Given the description of an element on the screen output the (x, y) to click on. 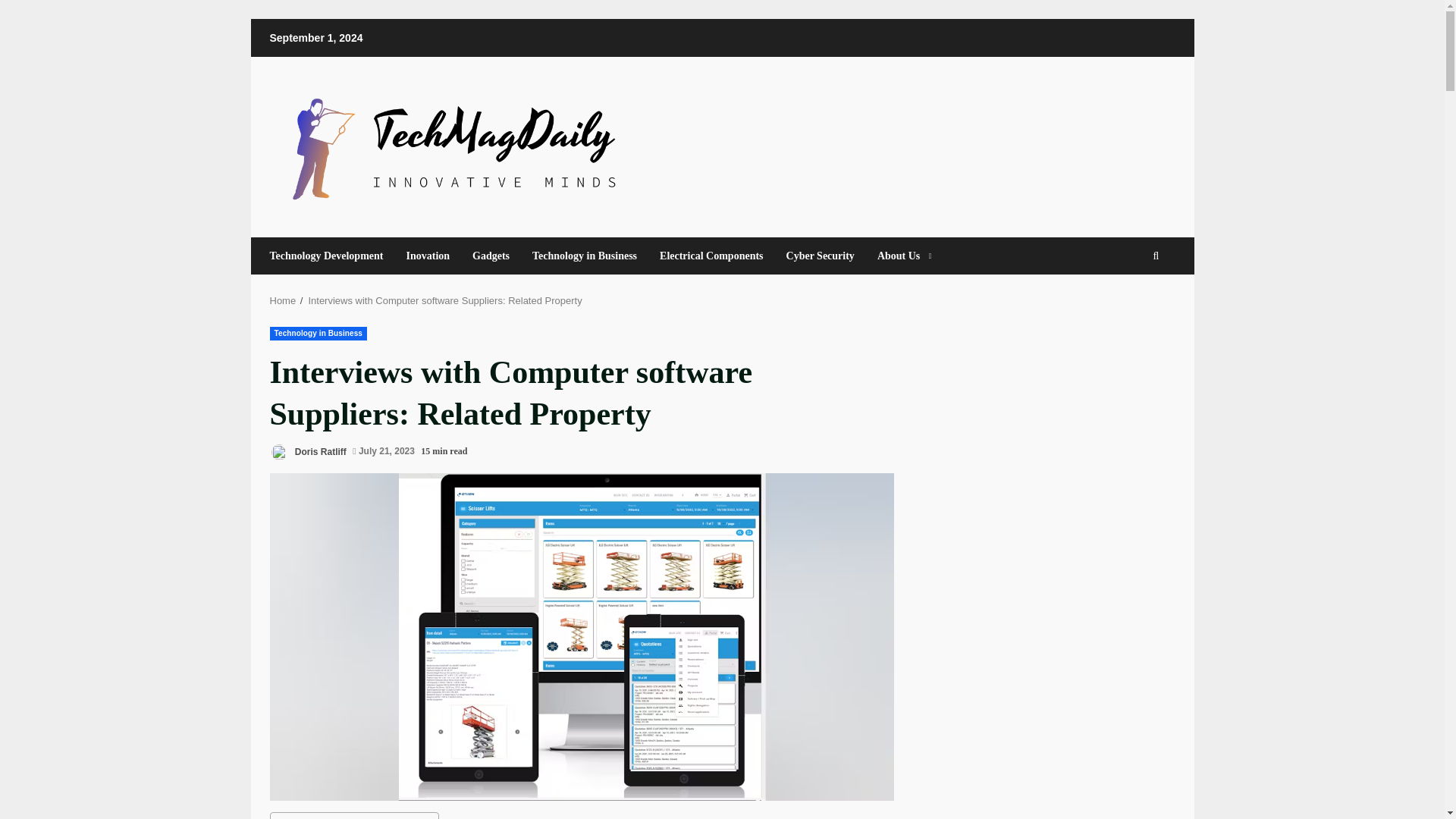
Technology in Business (584, 255)
Inovation (427, 255)
Doris Ratliff (307, 452)
About Us (898, 255)
Technology in Business (317, 333)
Search (1128, 302)
Technology Development (331, 255)
Electrical Components (710, 255)
